Given the description of an element on the screen output the (x, y) to click on. 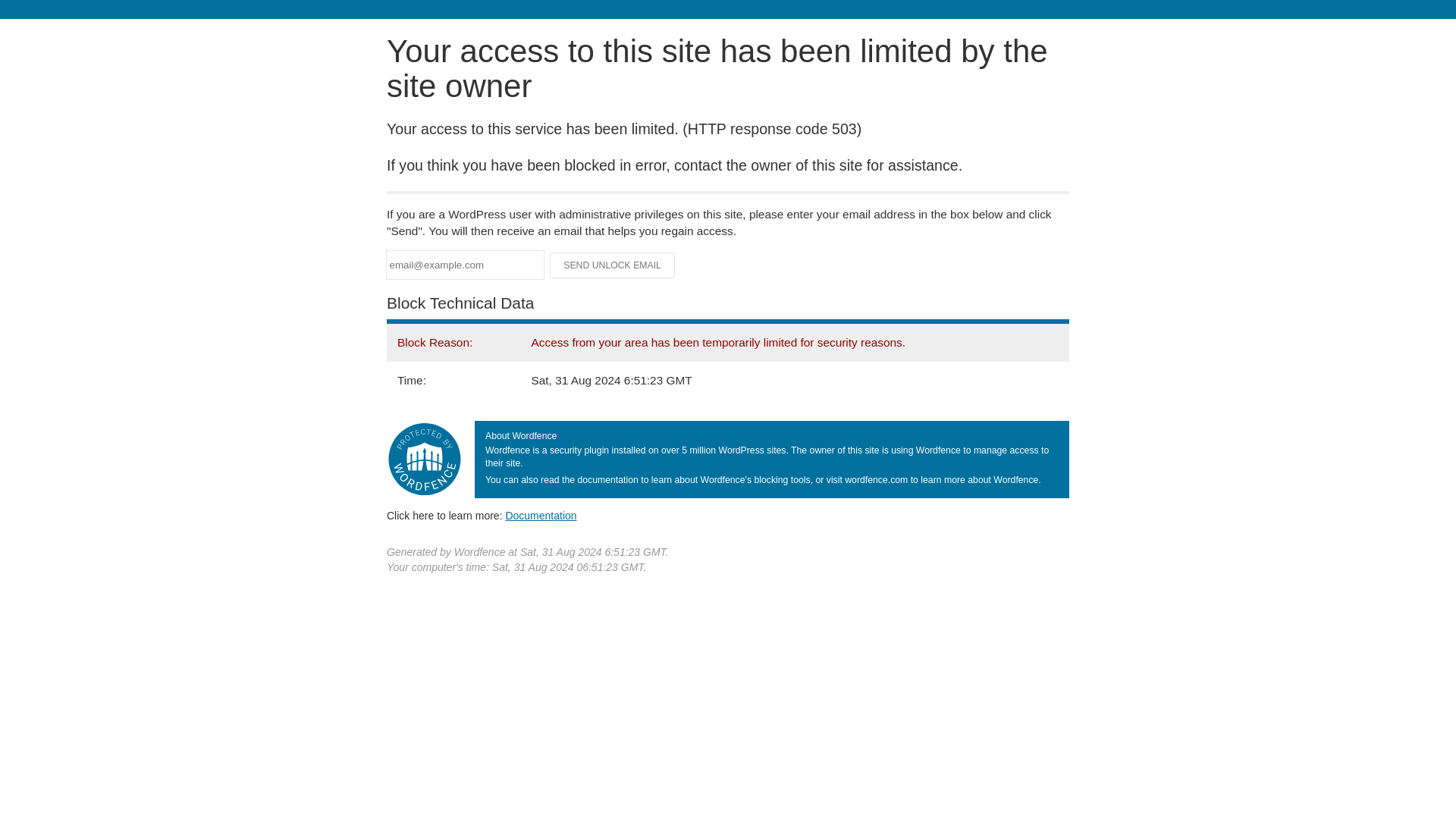
Send Unlock Email (612, 265)
Documentation (540, 515)
Send Unlock Email (612, 265)
